Given the description of an element on the screen output the (x, y) to click on. 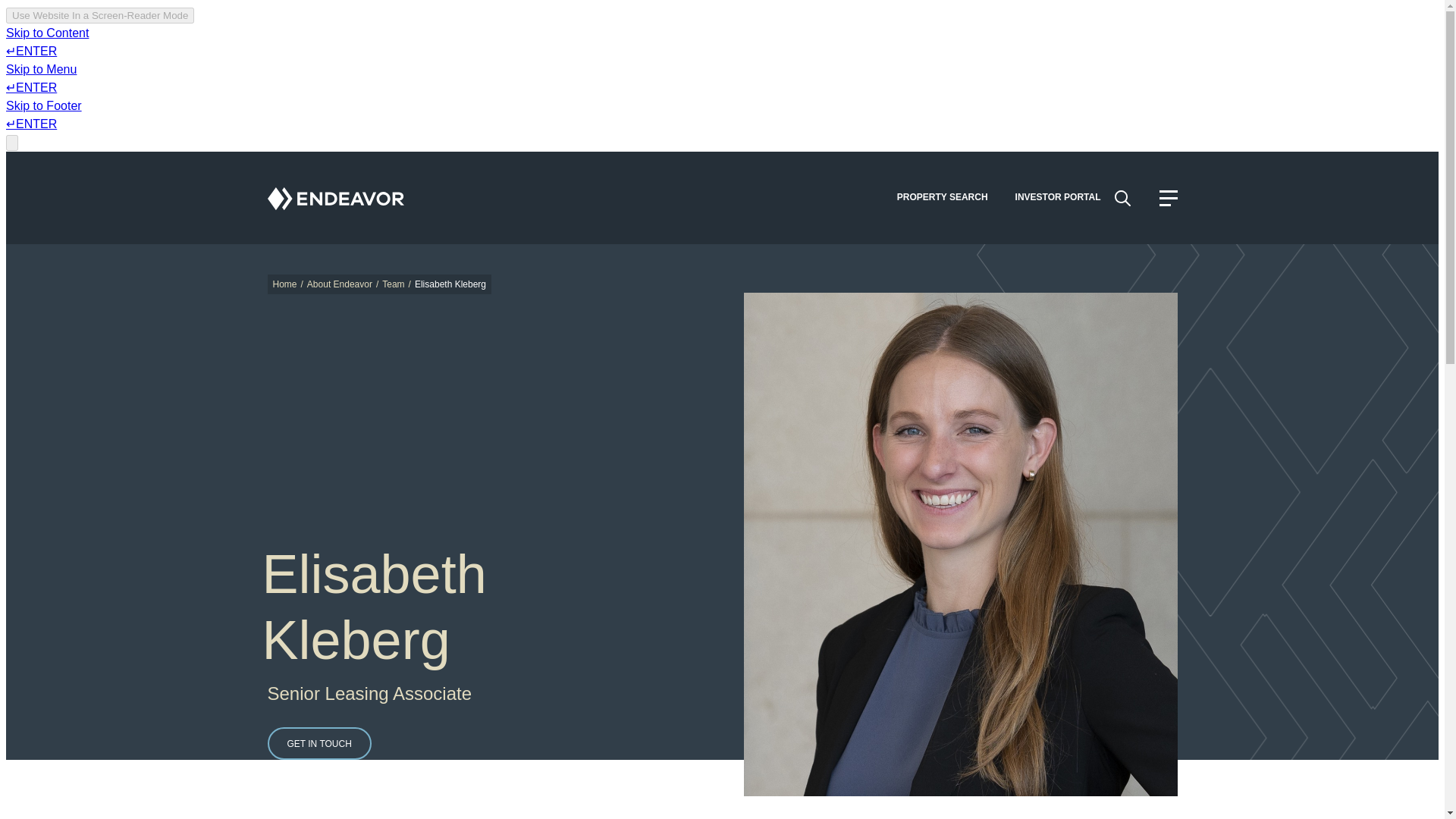
Team (392, 284)
Home (285, 284)
INVESTOR PORTAL (1058, 197)
Go to About Endeavor. (339, 284)
Endeavor Real Estate Group (334, 197)
PROPERTY SEARCH (942, 197)
Go to Endeavor Real Estate Group. (285, 284)
Go to Team. (392, 284)
About Endeavor (339, 284)
GET IN TOUCH (318, 743)
